Given the description of an element on the screen output the (x, y) to click on. 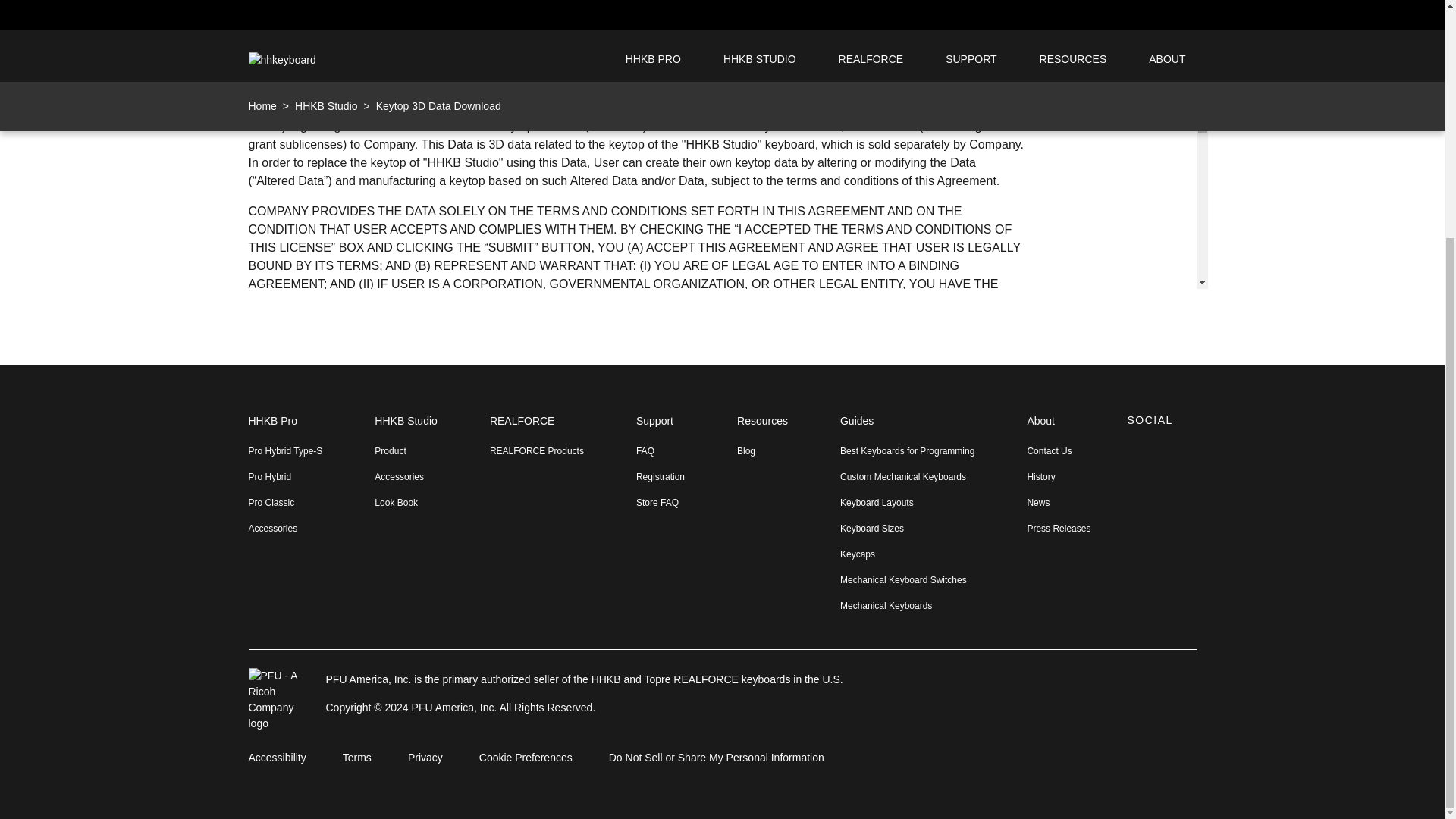
Browse Pro Hybrid Type-S (285, 450)
Browse Pro Hybrid (285, 477)
Browse Product (405, 450)
Browse HHKB Studio (405, 428)
Browse Pro Classic (285, 502)
Browse HHKB Pro (285, 428)
Browse Accessories (285, 528)
